Given the description of an element on the screen output the (x, y) to click on. 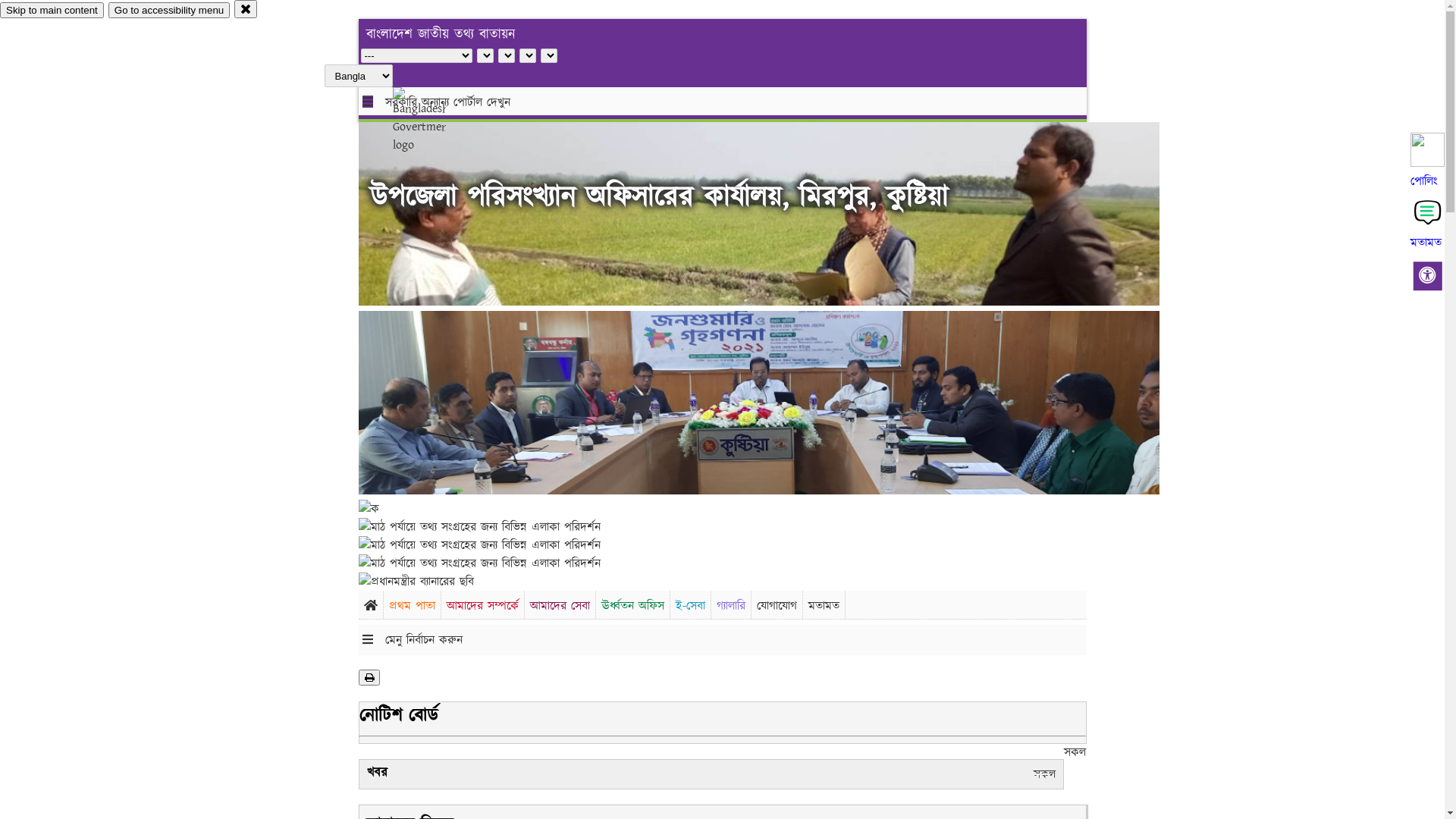
close Element type: hover (245, 9)
Skip to main content Element type: text (51, 10)
Go to accessibility menu Element type: text (168, 10)

                
             Element type: hover (431, 120)
